Given the description of an element on the screen output the (x, y) to click on. 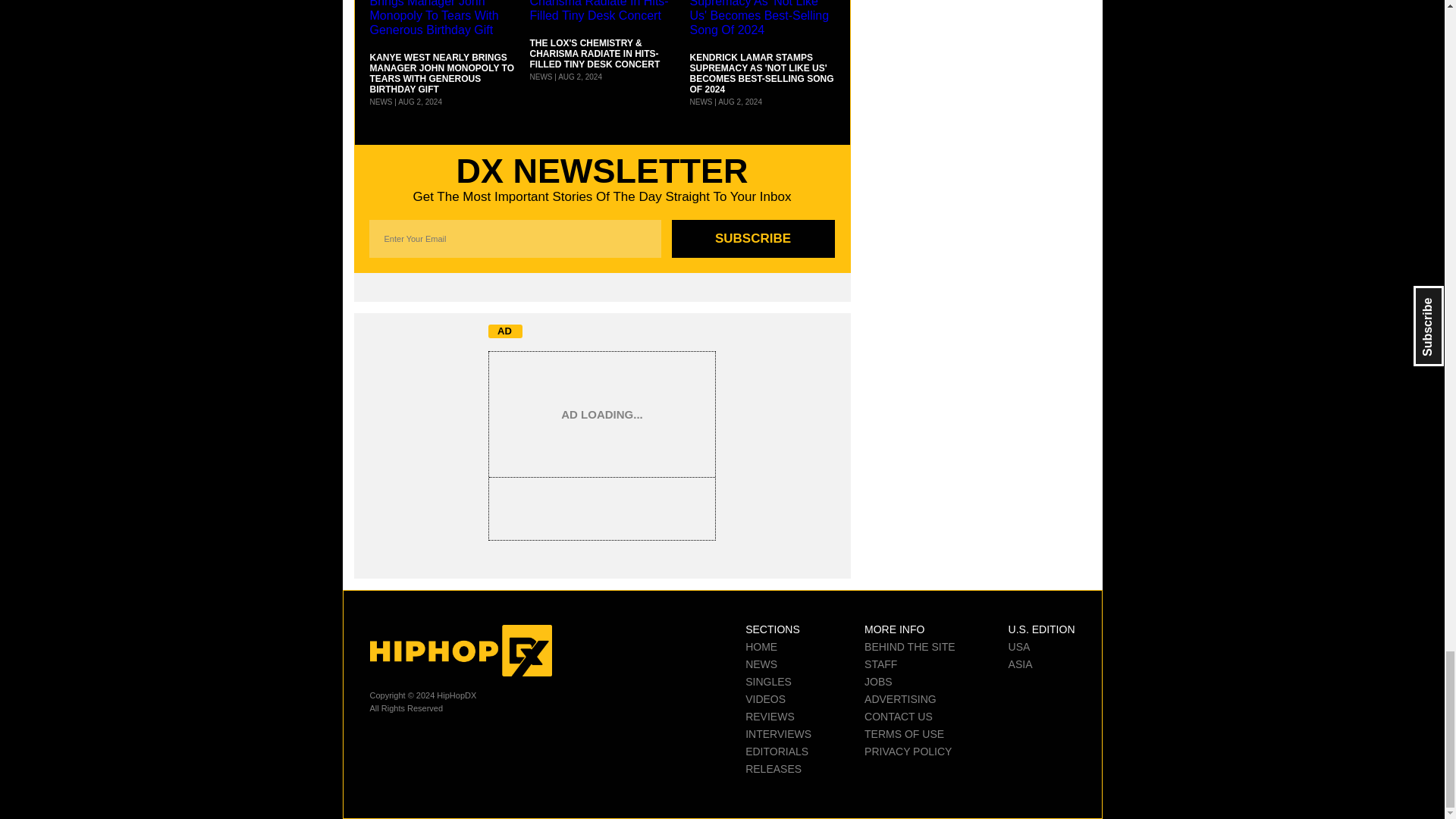
HipHopDX (460, 650)
